Given the description of an element on the screen output the (x, y) to click on. 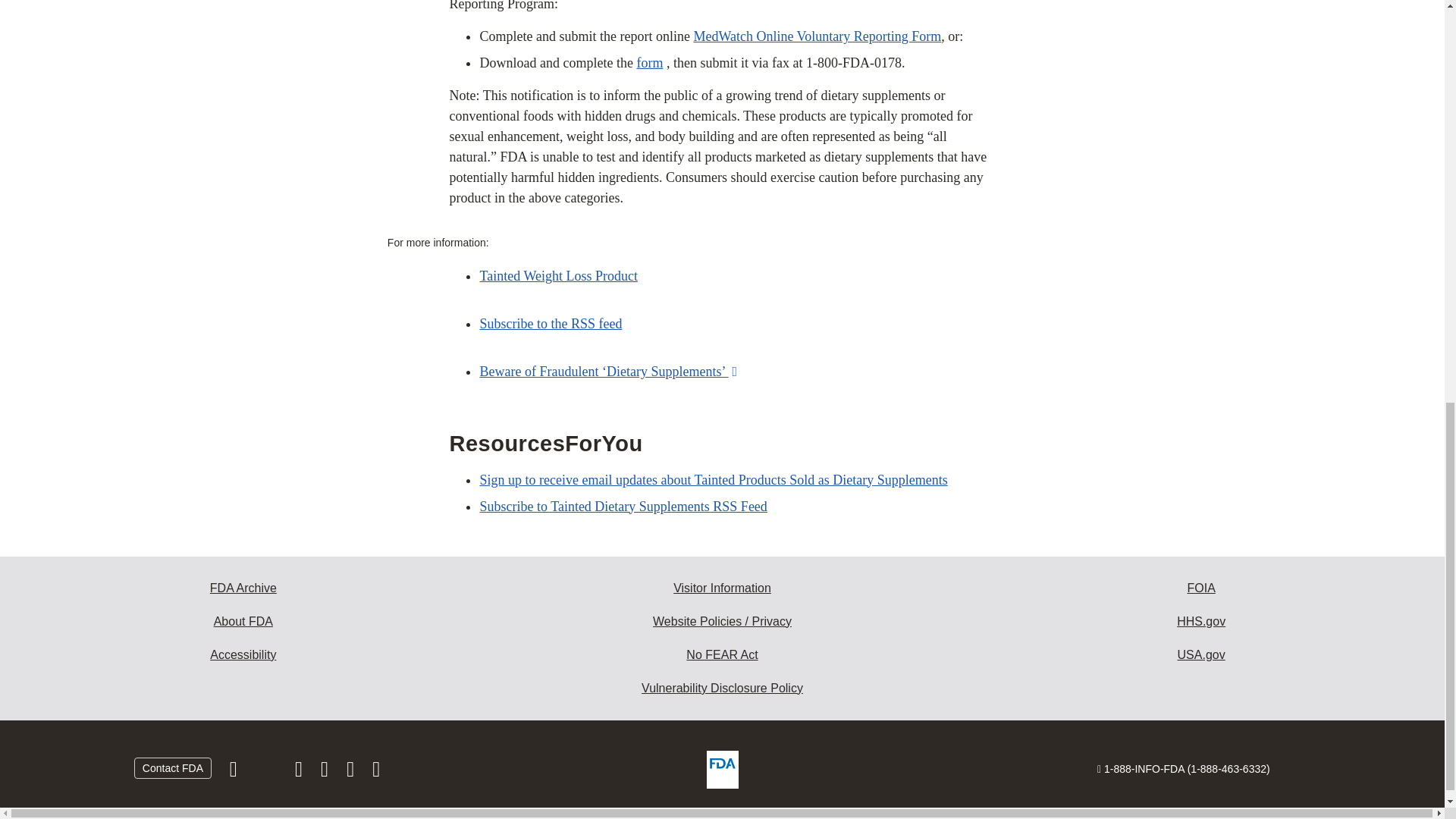
Follow FDA on Facebook (234, 772)
View FDA videos on YouTube (352, 772)
Follow FDA on Instagram (299, 772)
Subscribe to FDA RSS feeds (376, 772)
Health and Human Services (1200, 621)
Follow FDA on X (266, 772)
Freedom of Information Act (1200, 588)
Follow FDA on LinkedIn (326, 772)
